Given the description of an element on the screen output the (x, y) to click on. 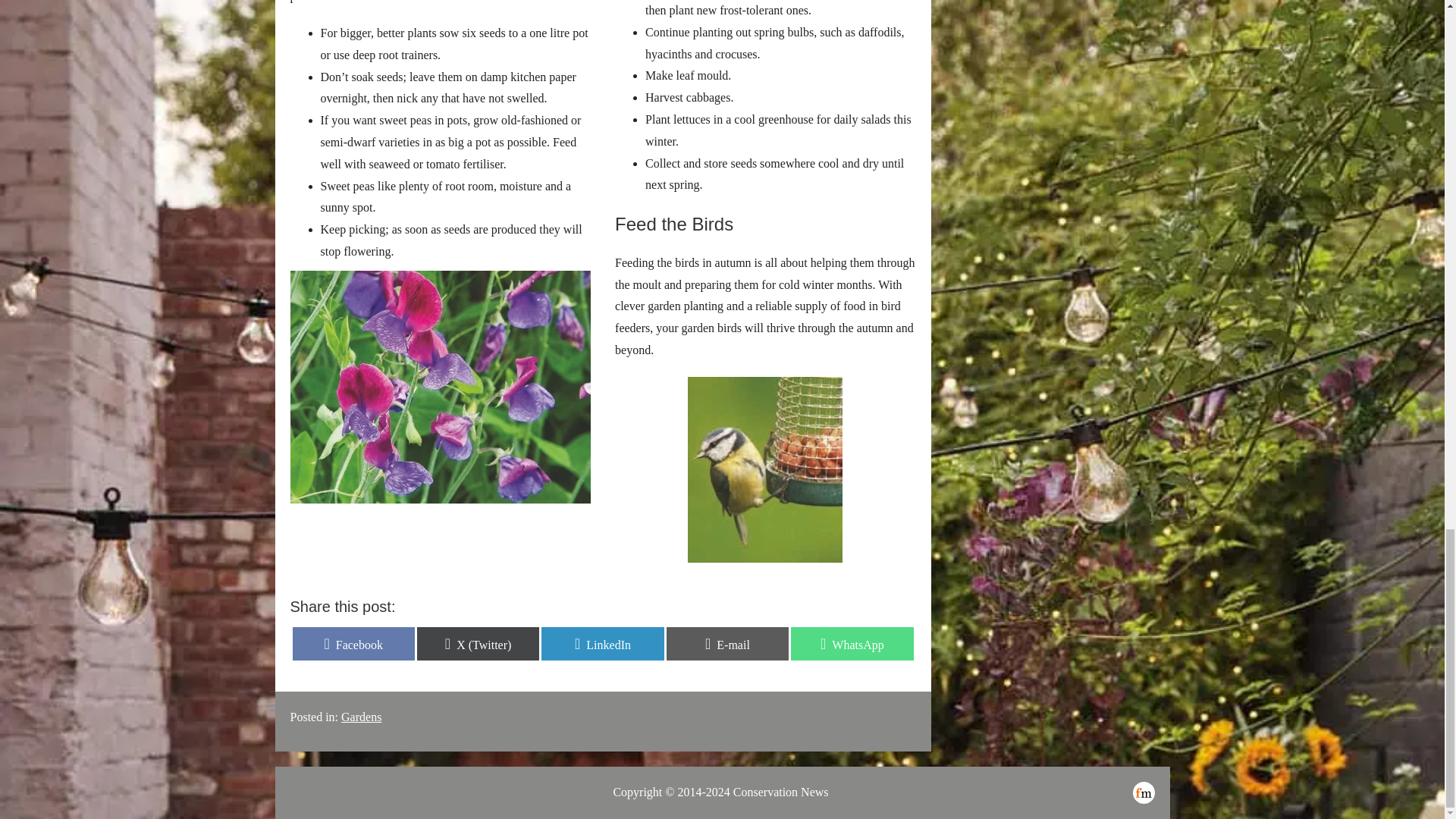
kent website design by fairly marvellous (353, 643)
Gardens (851, 643)
